Given the description of an element on the screen output the (x, y) to click on. 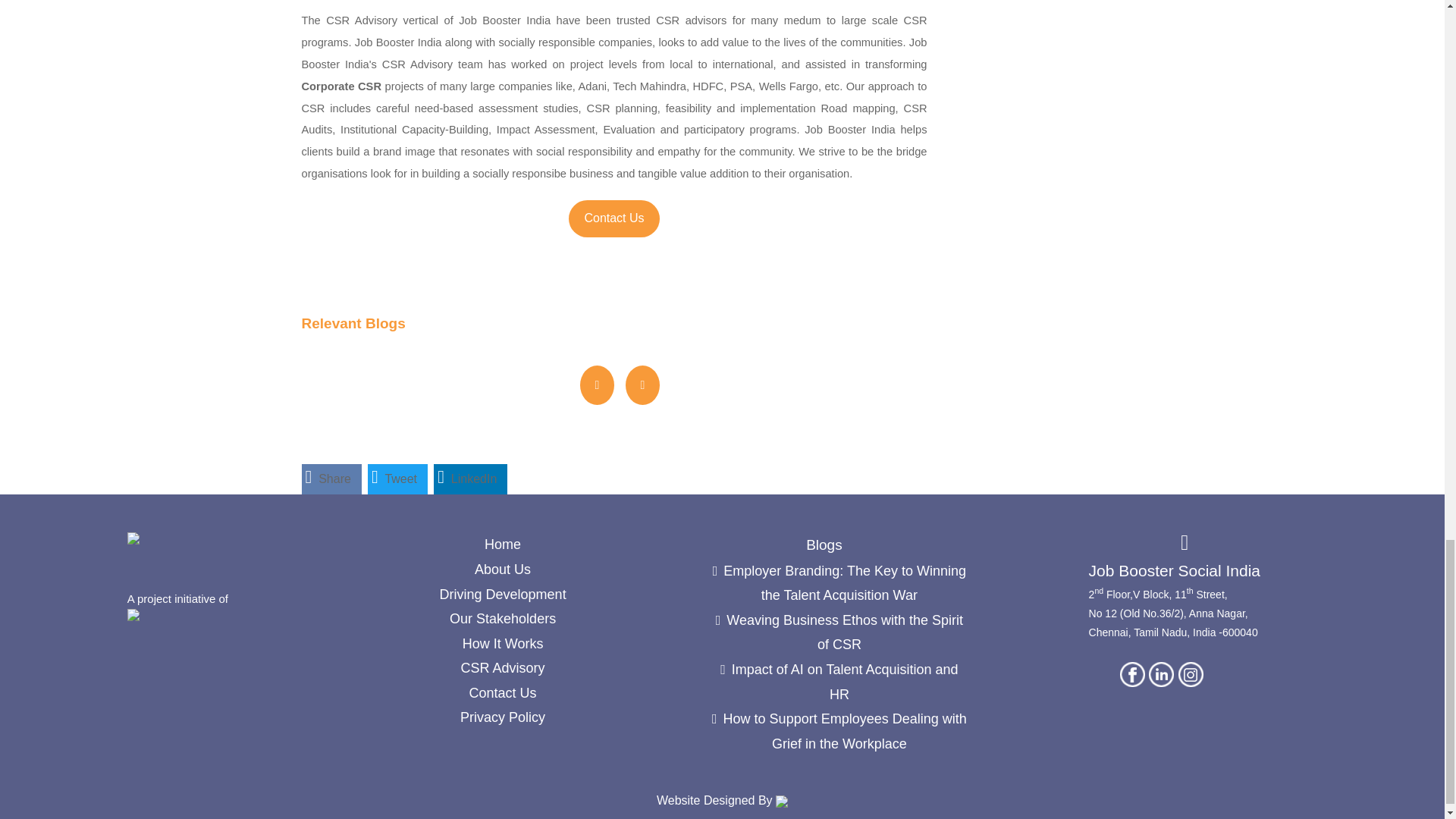
Contact Us (614, 217)
Contact Us (614, 218)
